Given the description of an element on the screen output the (x, y) to click on. 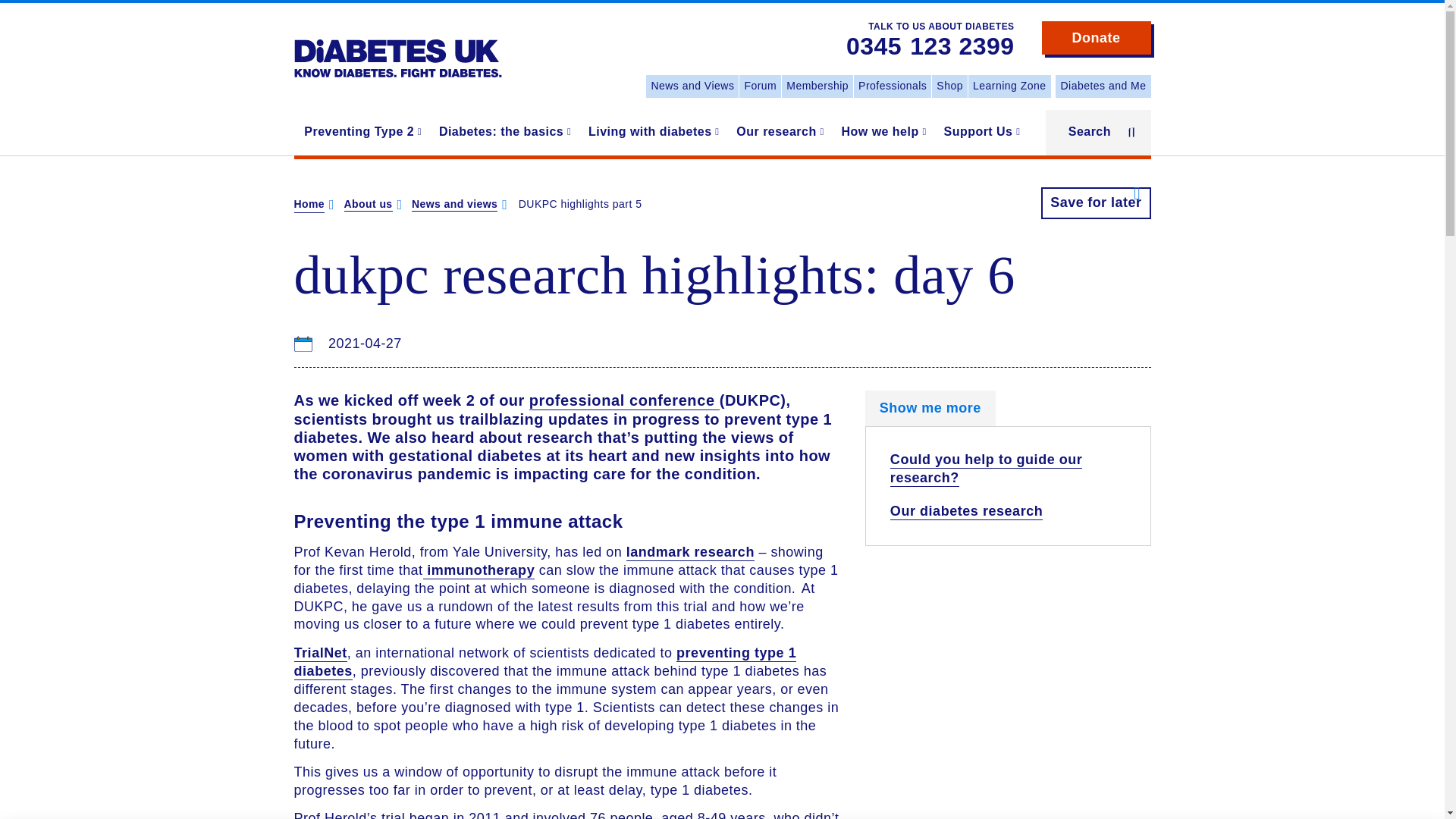
Learning Zone (1009, 86)
Shop (949, 86)
Preventing Type 2 (361, 132)
Professionals (892, 86)
Membership (817, 86)
Forum (759, 86)
Diabetes: the basics (503, 132)
Donate (1096, 37)
Home (398, 47)
News and Views (692, 86)
0345123 2399 (929, 46)
Diabetes and Me (1102, 86)
